Given the description of an element on the screen output the (x, y) to click on. 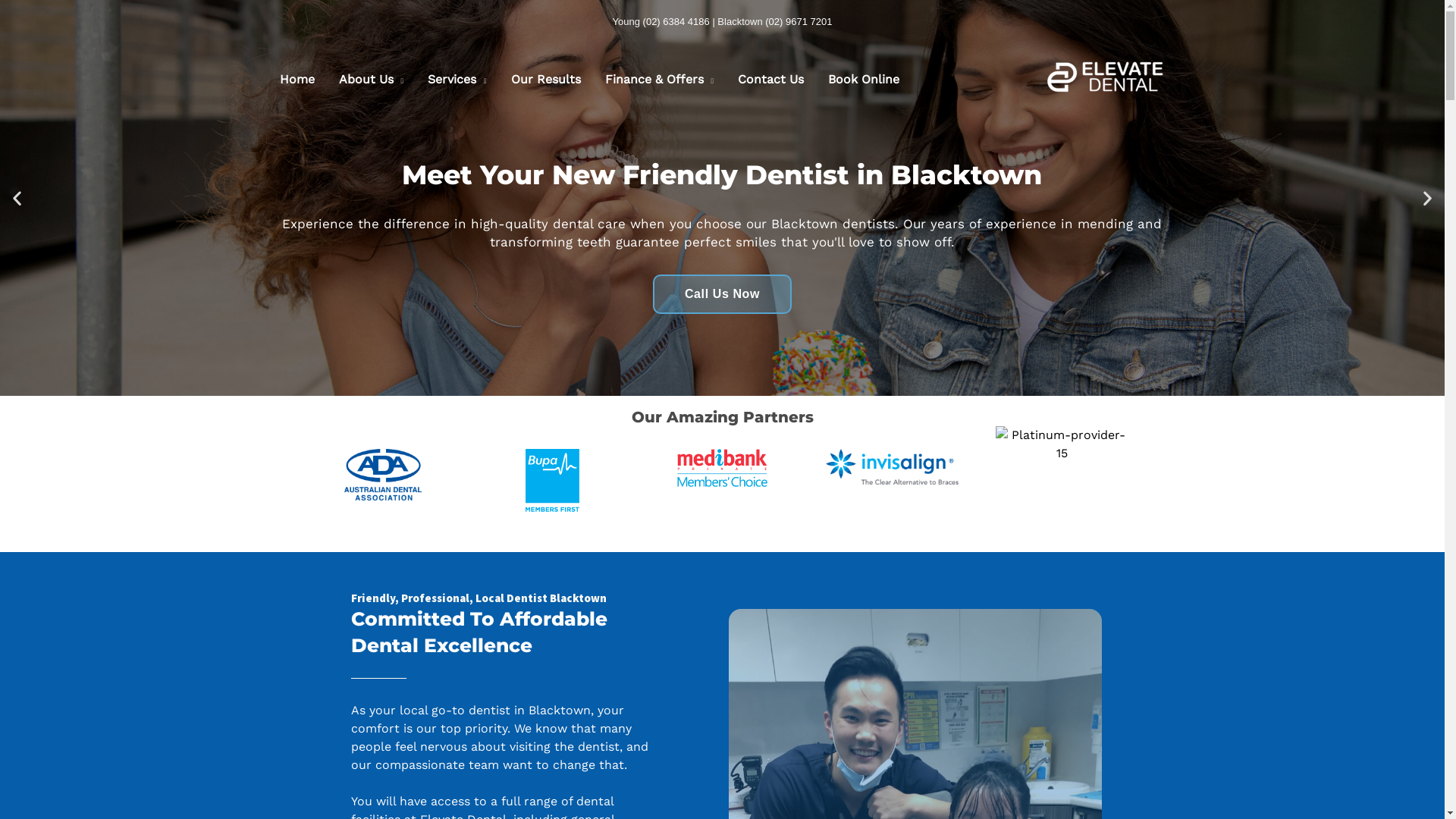
Services Element type: text (456, 78)
Finance & Offers Element type: text (659, 78)
Our Results Element type: text (545, 78)
(02) 9671 7201 Element type: text (798, 21)
Home Element type: text (296, 78)
Book Online Element type: text (863, 78)
Platinum-provider-15 Element type: hover (1061, 444)
Call Us Now Element type: text (721, 293)
(02) 6384 4186 Element type: text (676, 21)
Contact Us Element type: text (770, 78)
About Us Element type: text (370, 78)
